Given the description of an element on the screen output the (x, y) to click on. 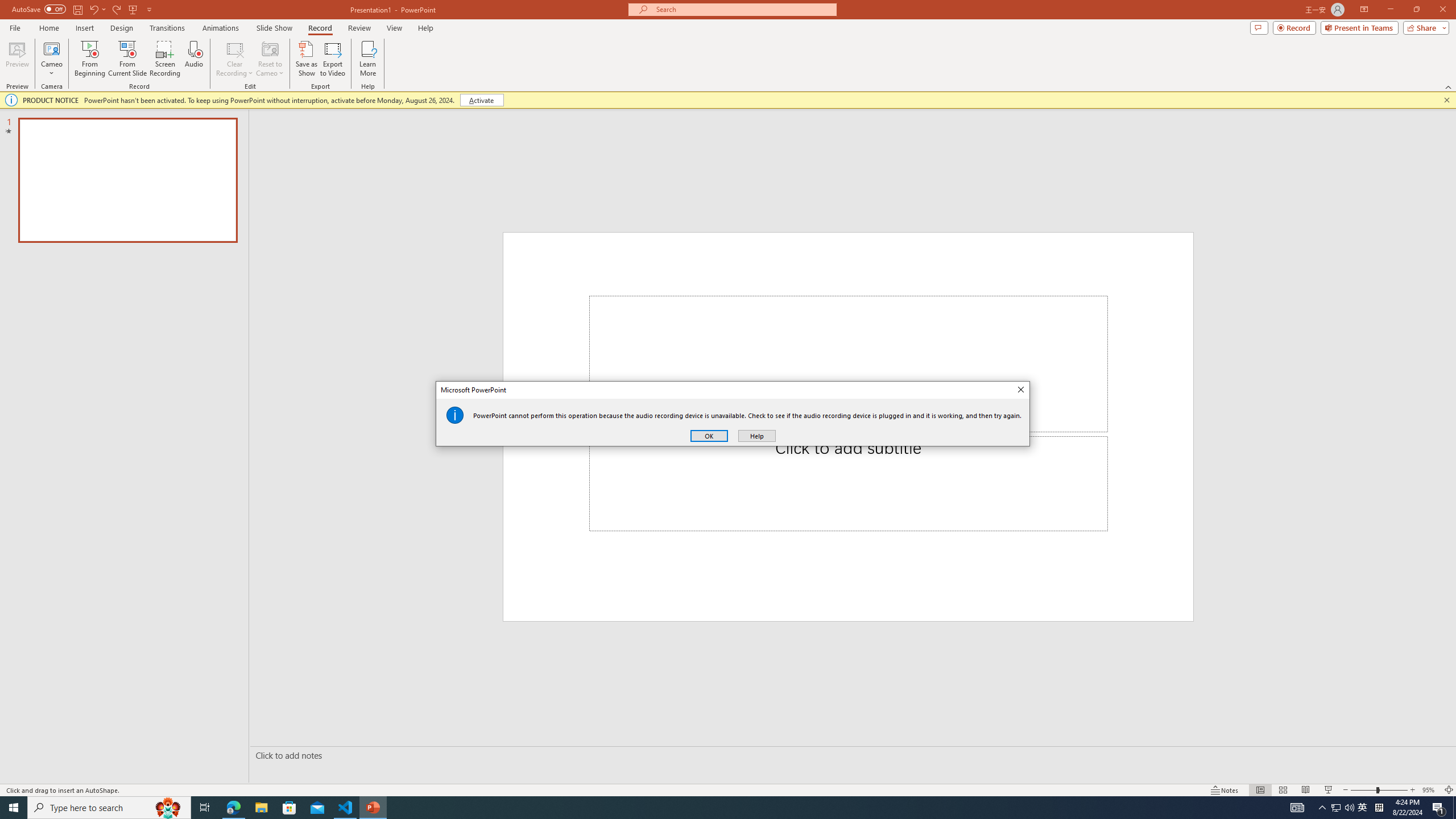
OK (709, 435)
Zoom 95% (1430, 790)
Activate (481, 100)
Close this message (1446, 99)
